Given the description of an element on the screen output the (x, y) to click on. 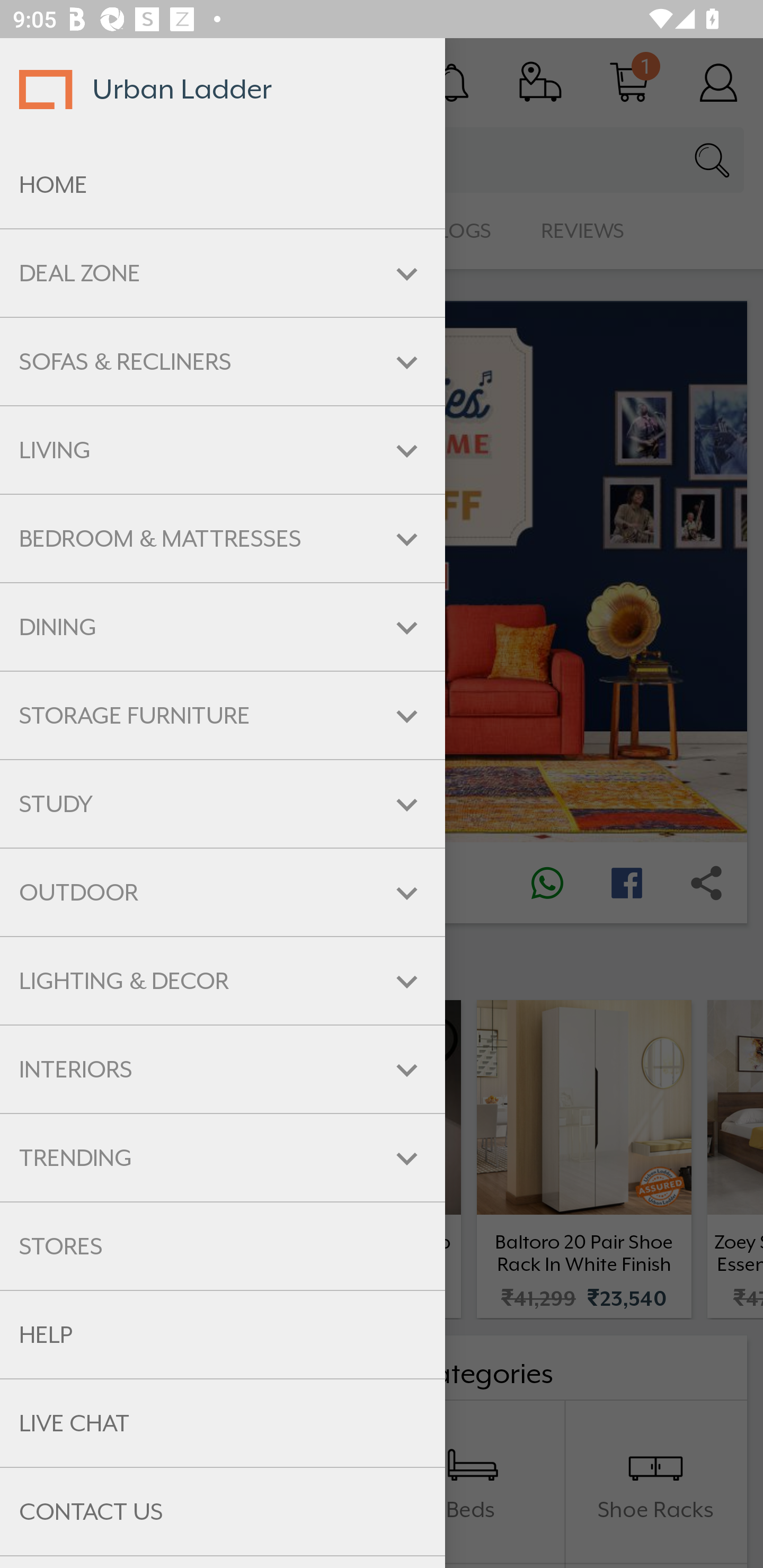
Open navigation drawer (44, 82)
Urban Ladder (222, 89)
HOME (222, 184)
DEAL ZONE  (222, 273)
SOFAS & RECLINERS  (222, 361)
LIVING  (222, 450)
BEDROOM & MATTRESSES  (222, 538)
DINING  (222, 627)
STORAGE FURNITURE  (222, 715)
STUDY  (222, 803)
OUTDOOR  (222, 892)
LIGHTING & DECOR  (222, 980)
INTERIORS  (222, 1069)
TRENDING  (222, 1157)
STORES (222, 1246)
HELP (222, 1334)
LIVE CHAT (222, 1422)
CONTACT US (222, 1512)
